Given the description of an element on the screen output the (x, y) to click on. 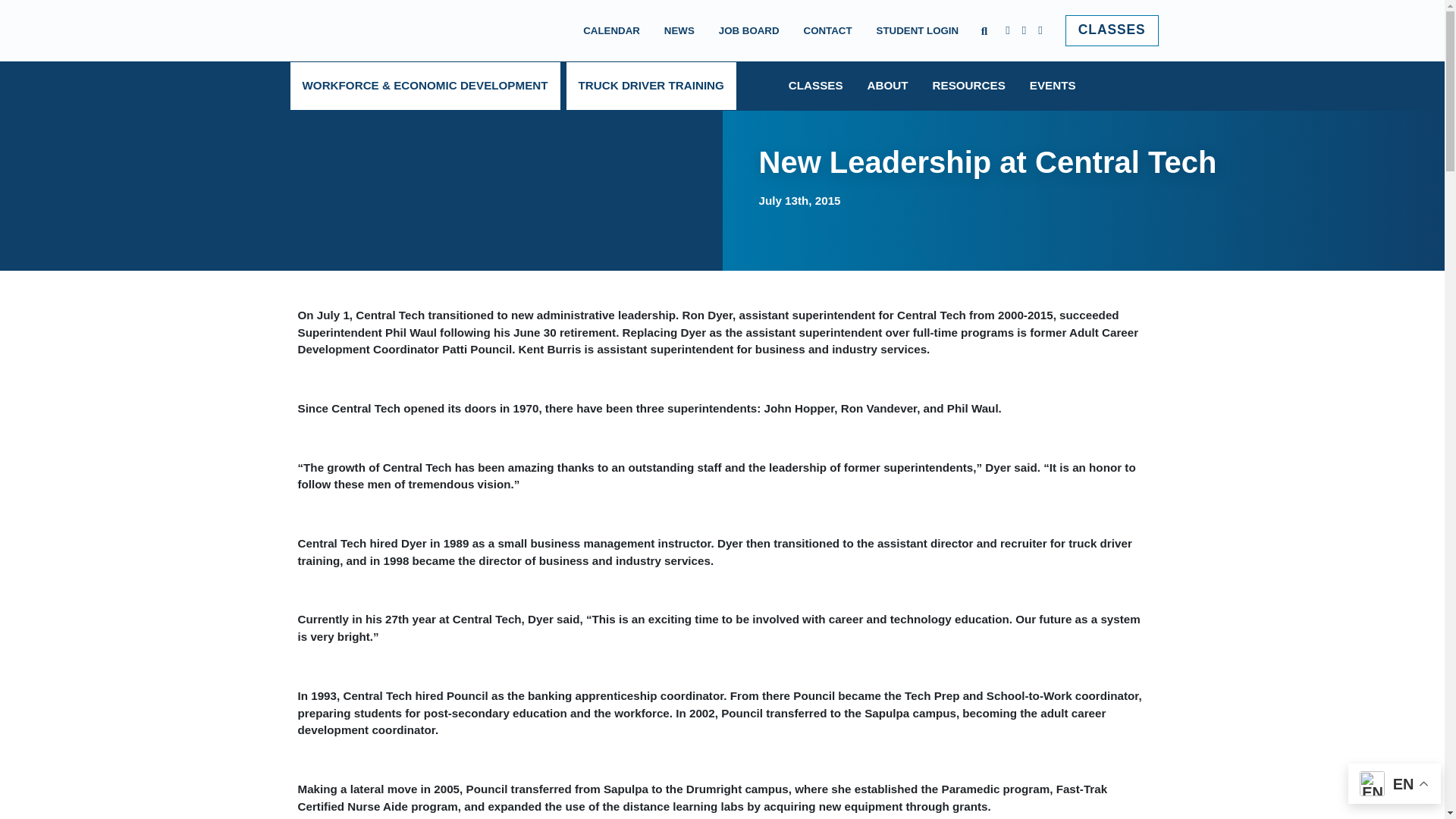
CONTACT (828, 31)
CLASSES (1111, 30)
STUDENT LOGIN (917, 31)
CLASSES (1111, 30)
CALENDAR (611, 31)
JOB BOARD (749, 31)
Search (220, 30)
NEWS (679, 31)
